Given the description of an element on the screen output the (x, y) to click on. 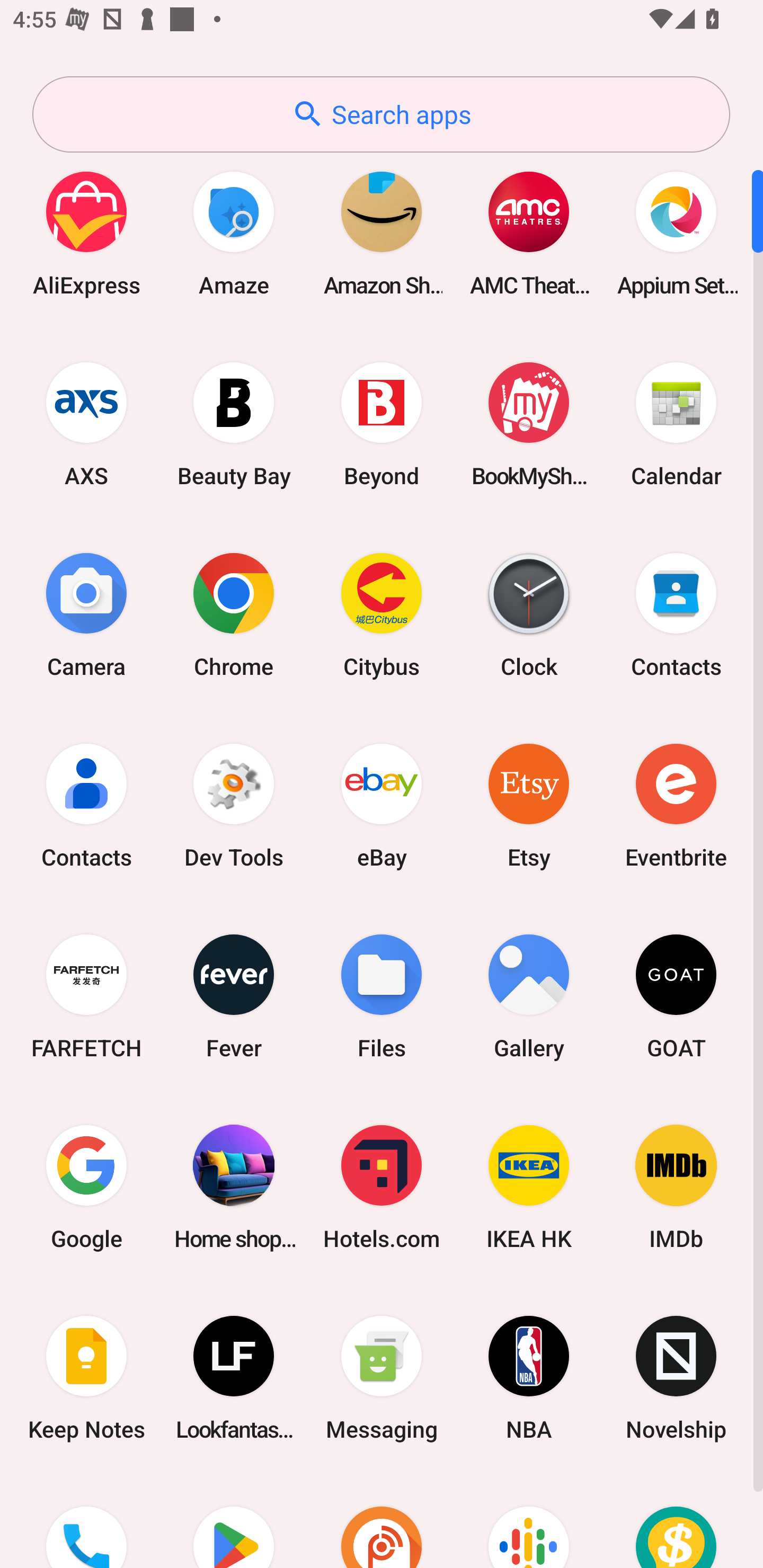
  Search apps (381, 114)
AliExpress (86, 233)
Amaze (233, 233)
Amazon Shopping (381, 233)
AMC Theatres (528, 233)
Appium Settings (676, 233)
AXS (86, 424)
Beauty Bay (233, 424)
Beyond (381, 424)
BookMyShow (528, 424)
Calendar (676, 424)
Camera (86, 614)
Chrome (233, 614)
Citybus (381, 614)
Clock (528, 614)
Contacts (676, 614)
Contacts (86, 805)
Dev Tools (233, 805)
eBay (381, 805)
Etsy (528, 805)
Eventbrite (676, 805)
FARFETCH (86, 996)
Fever (233, 996)
Files (381, 996)
Gallery (528, 996)
GOAT (676, 996)
Google (86, 1186)
Home shopping (233, 1186)
Hotels.com (381, 1186)
IKEA HK (528, 1186)
IMDb (676, 1186)
Keep Notes (86, 1377)
Lookfantastic (233, 1377)
Messaging (381, 1377)
NBA (528, 1377)
Novelship (676, 1377)
Phone (86, 1520)
Play Store (233, 1520)
Podcast Addict (381, 1520)
Podcasts (528, 1520)
Price (676, 1520)
